Given the description of an element on the screen output the (x, y) to click on. 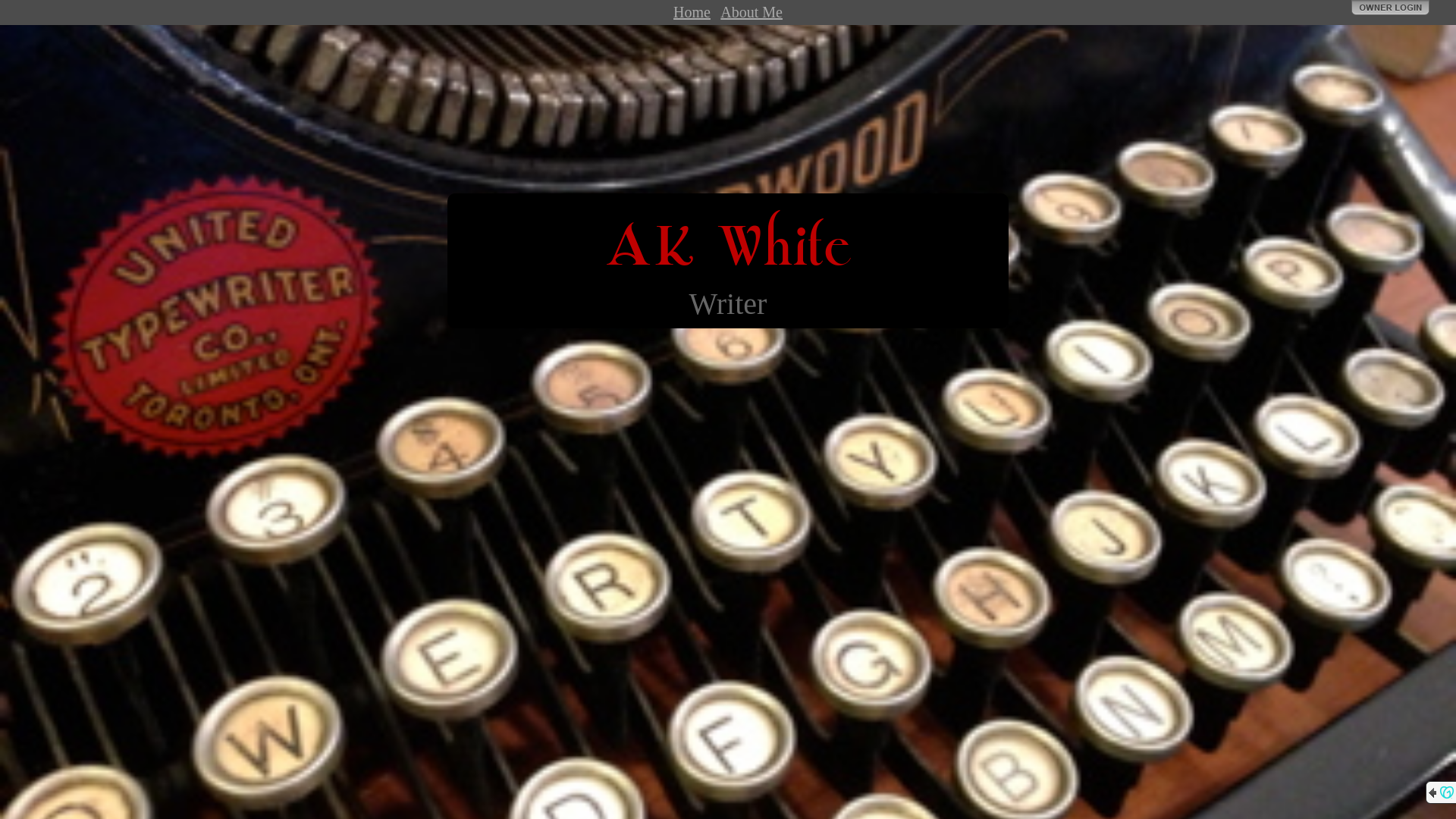
Home Element type: text (691, 11)
About Me Element type: text (751, 11)
